Given the description of an element on the screen output the (x, y) to click on. 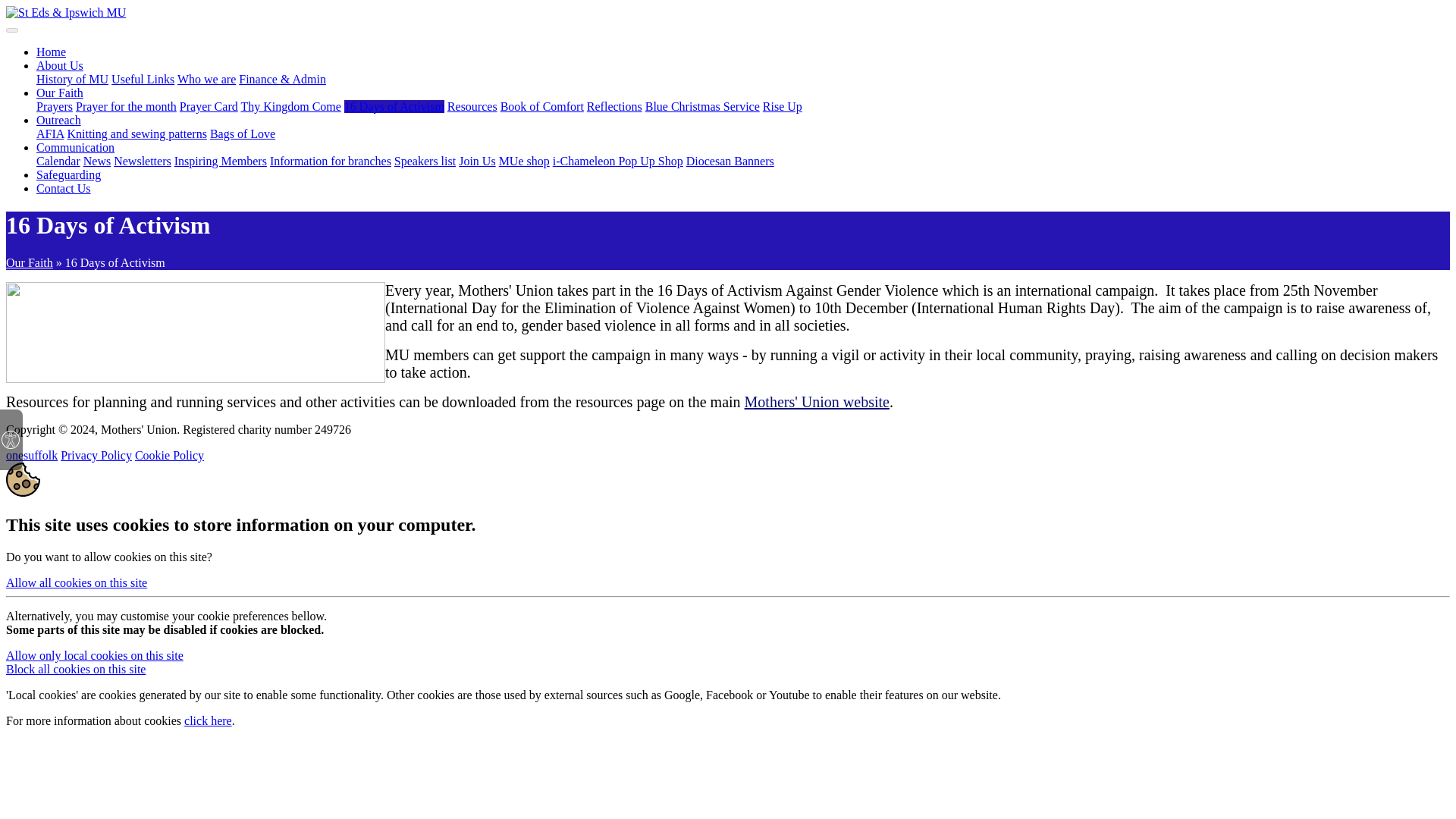
Information for branches (330, 160)
Bags of Love (242, 133)
Who we are (206, 78)
MUe shop (524, 160)
i-Chameleon Pop Up Shop (617, 160)
Resources (471, 106)
Reflections (614, 106)
Outreach (58, 119)
Join Us (476, 160)
Prayers (54, 106)
Calendar (58, 160)
Speakers list (424, 160)
Knitting and sewing patterns (136, 133)
Home (50, 51)
Blue Christmas Service (702, 106)
